Given the description of an element on the screen output the (x, y) to click on. 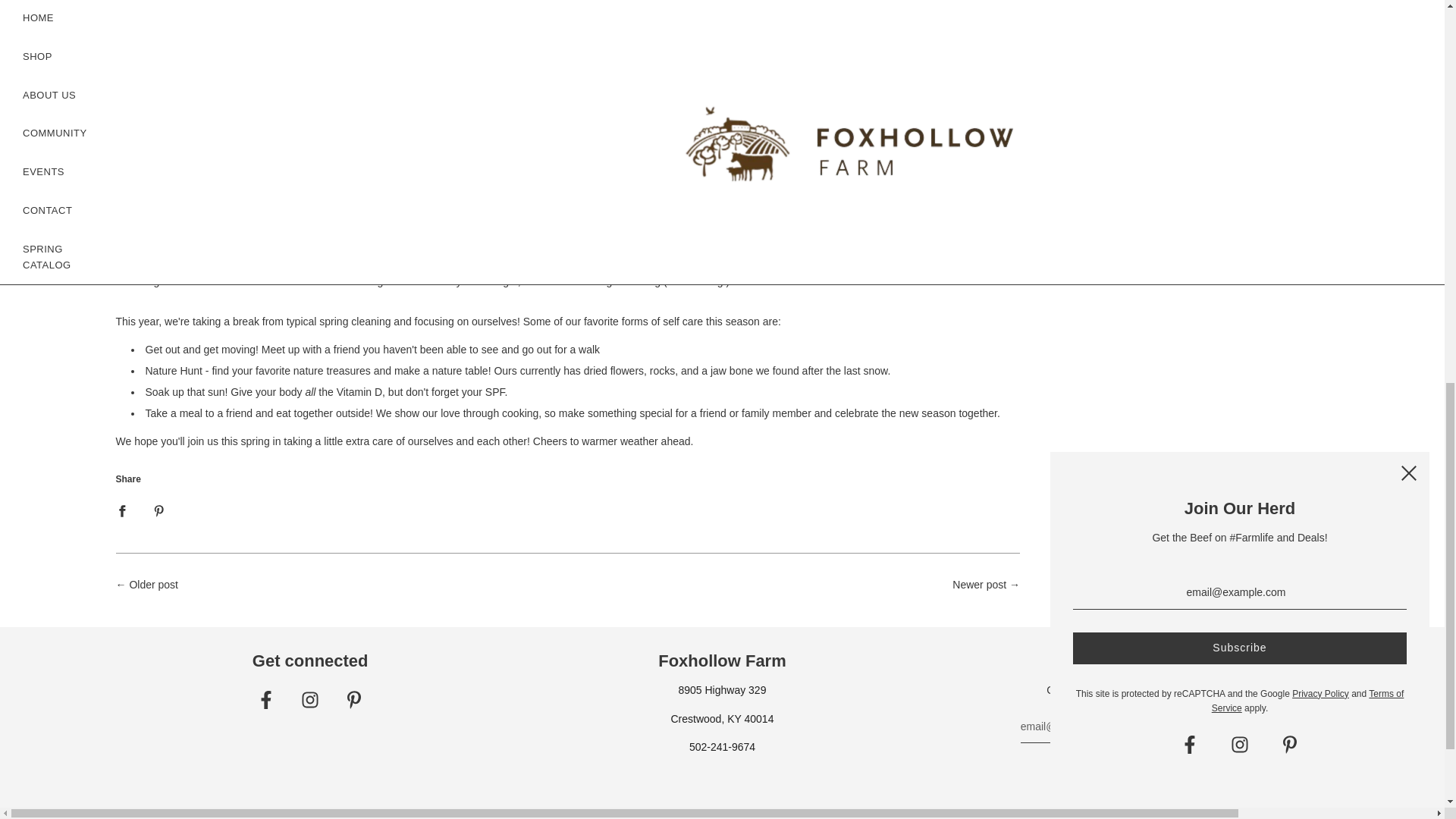
Subscribe (1134, 769)
